Given the description of an element on the screen output the (x, y) to click on. 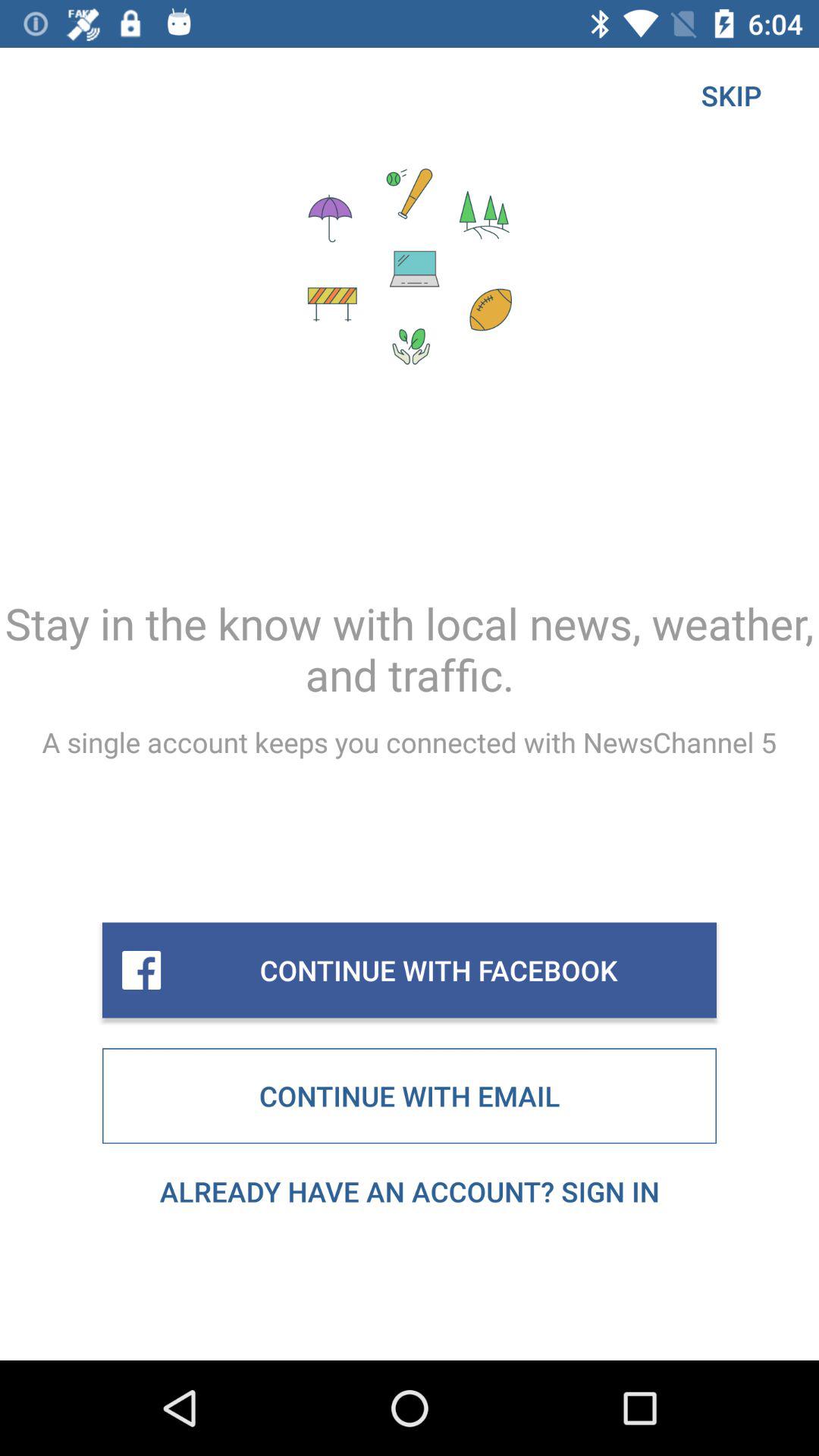
swipe to the already have an icon (409, 1191)
